Given the description of an element on the screen output the (x, y) to click on. 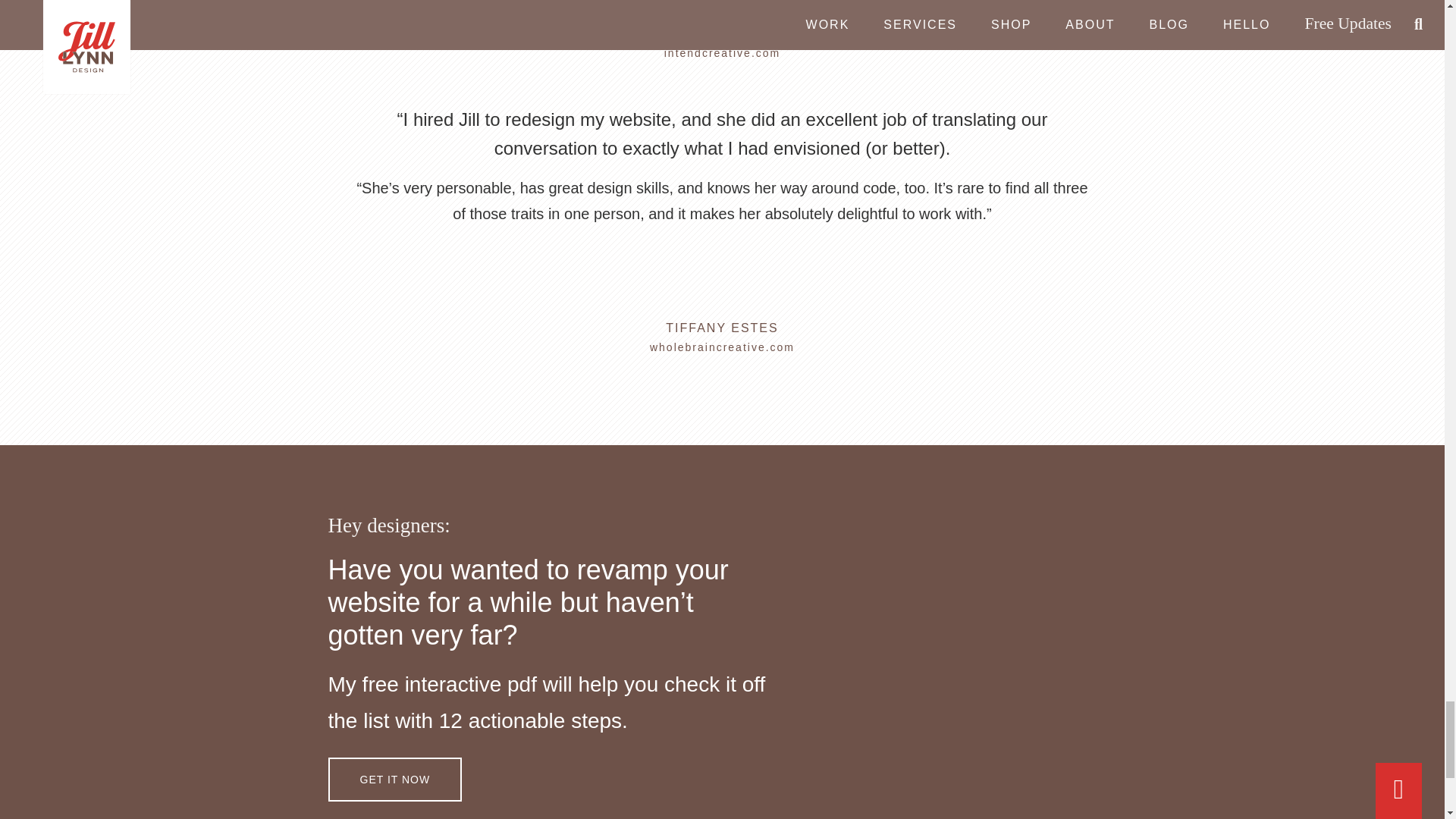
GET IT NOW (394, 779)
